Given the description of an element on the screen output the (x, y) to click on. 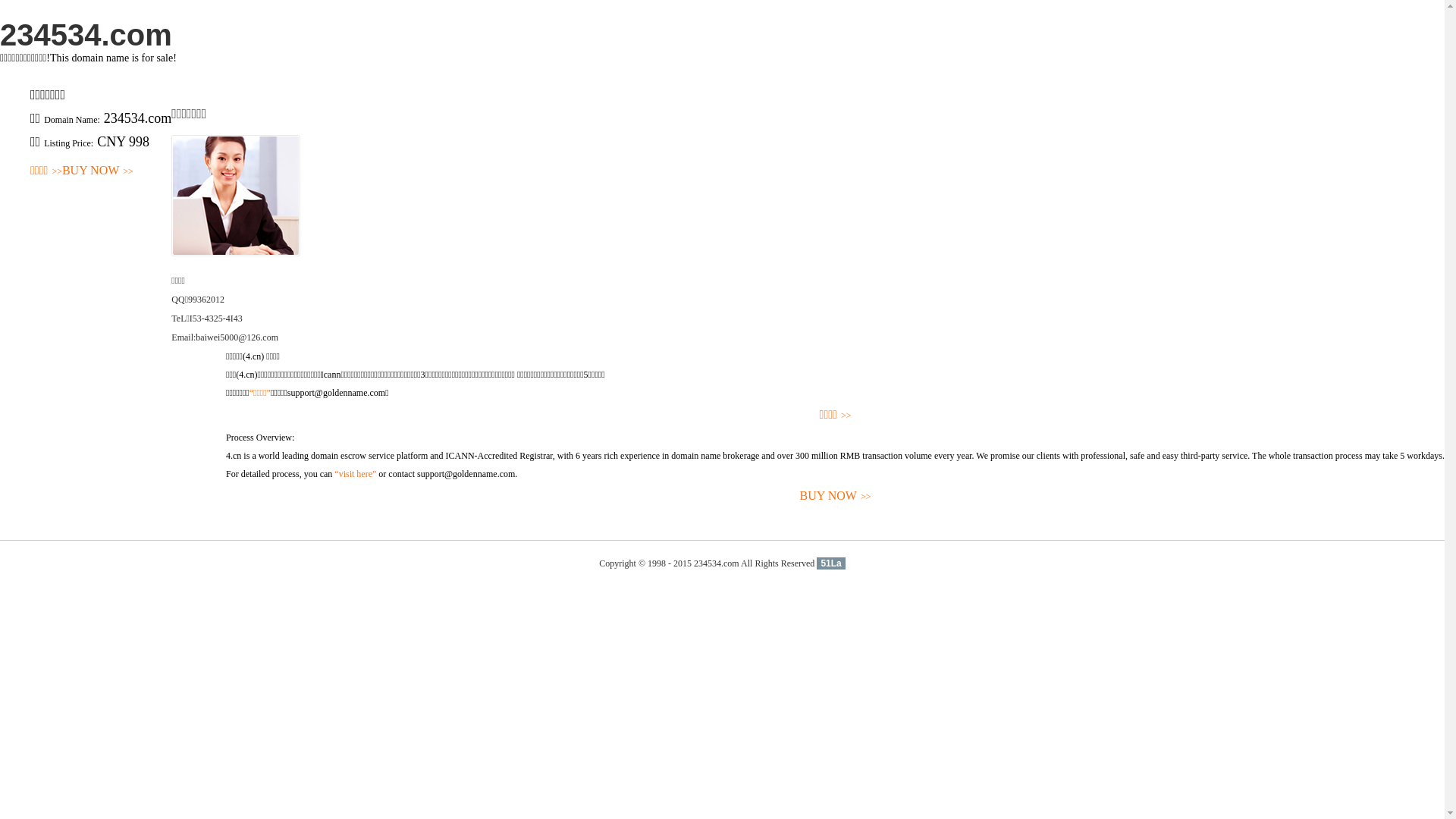
51La Element type: text (830, 563)
BUY NOW>> Element type: text (97, 170)
BUY NOW>> Element type: text (834, 496)
